Given the description of an element on the screen output the (x, y) to click on. 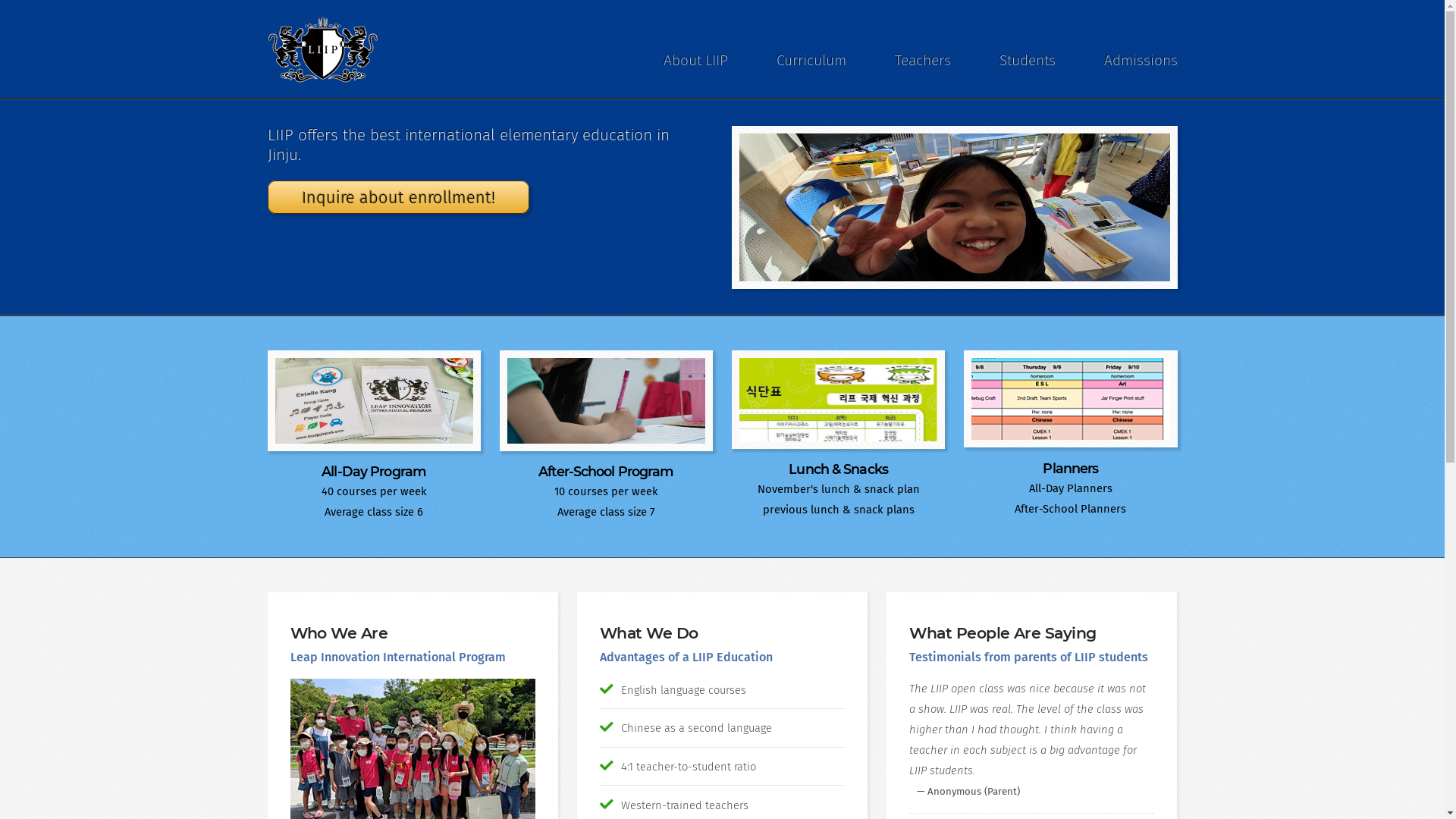
Admissions Element type: text (1140, 60)
LIIP All-Day Program Element type: hover (373, 400)
Curriculum Element type: text (811, 60)
LIIP Lesson & Homework Planner Element type: hover (1069, 398)
About LIIP Element type: text (694, 60)
Inquire about enrollment! Element type: text (397, 196)
LIIP After-School Program Element type: hover (605, 400)
Students Element type: text (1027, 60)
Planners Element type: text (1070, 468)
After-School Program Element type: text (605, 471)
Lunch & Snacks Element type: text (838, 468)
Teachers Element type: text (922, 60)
LIIP Lunch Menu Element type: hover (837, 399)
All-Day Program Element type: text (373, 471)
